Given the description of an element on the screen output the (x, y) to click on. 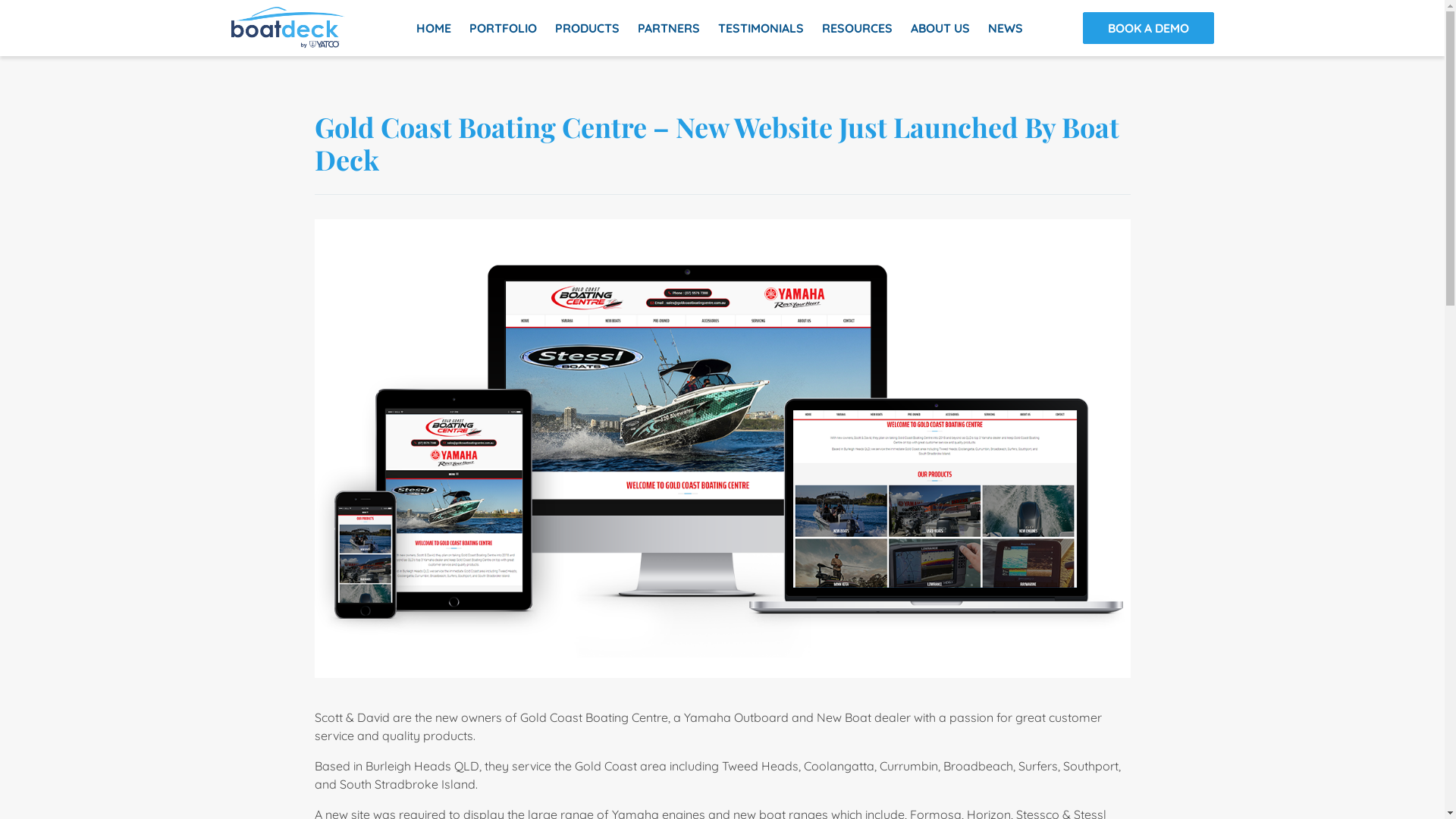
PRODUCTS Element type: text (587, 27)
BOOK A DEMO Element type: text (1148, 27)
HOME Element type: text (433, 27)
NEWS Element type: text (1005, 27)
PARTNERS Element type: text (668, 27)
TESTIMONIALS Element type: text (760, 27)
RESOURCES Element type: text (856, 27)
PORTFOLIO Element type: text (503, 27)
ABOUT US Element type: text (940, 27)
